Given the description of an element on the screen output the (x, y) to click on. 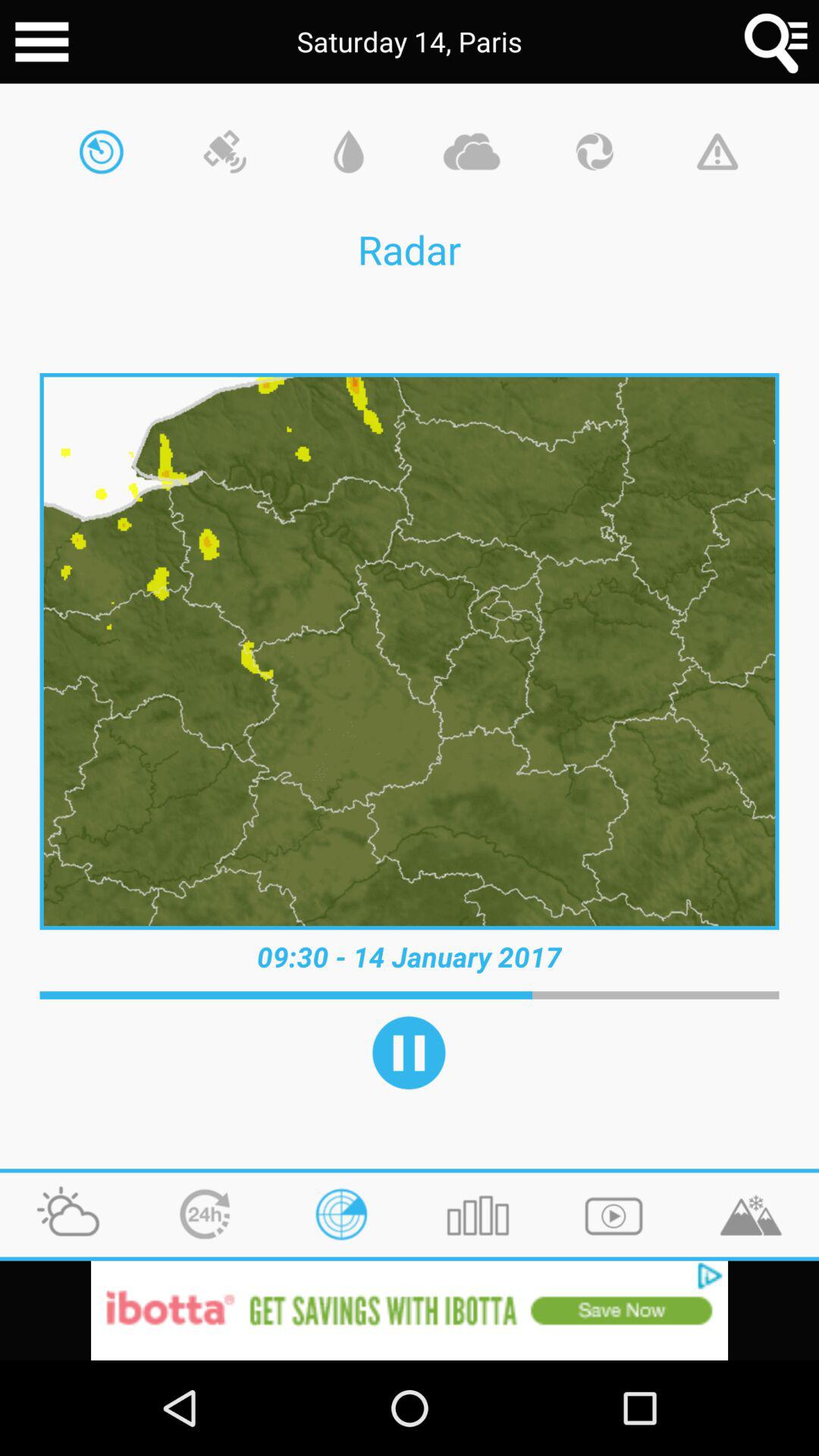
go to menu button (777, 41)
